Given the description of an element on the screen output the (x, y) to click on. 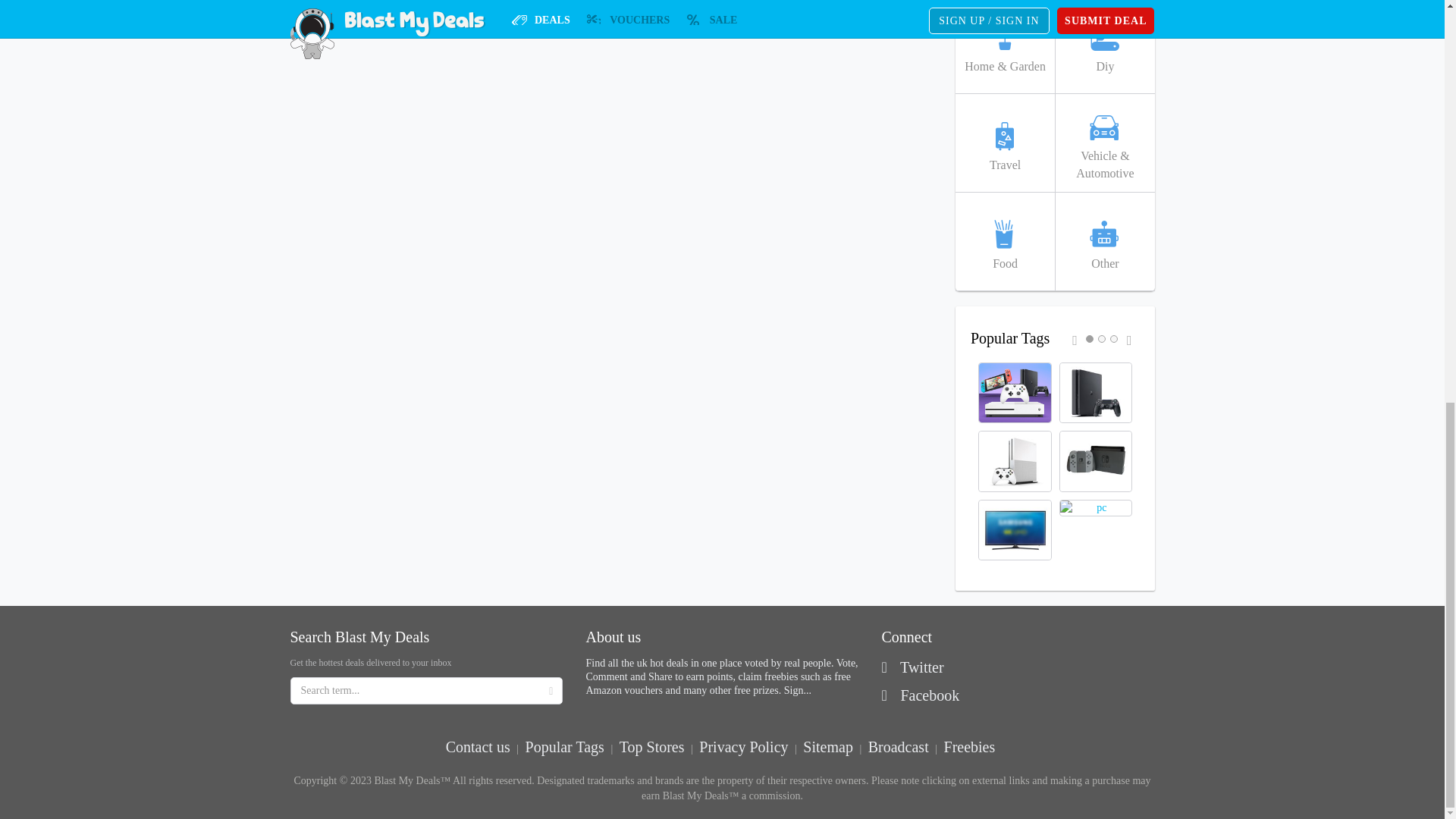
Food (1004, 241)
home-garden (1004, 47)
Other (1104, 241)
Travel (1004, 143)
diy (1104, 47)
Diy (1104, 47)
food (1004, 241)
vehicle-automotive (1104, 143)
travel (1004, 143)
